Given the description of an element on the screen output the (x, y) to click on. 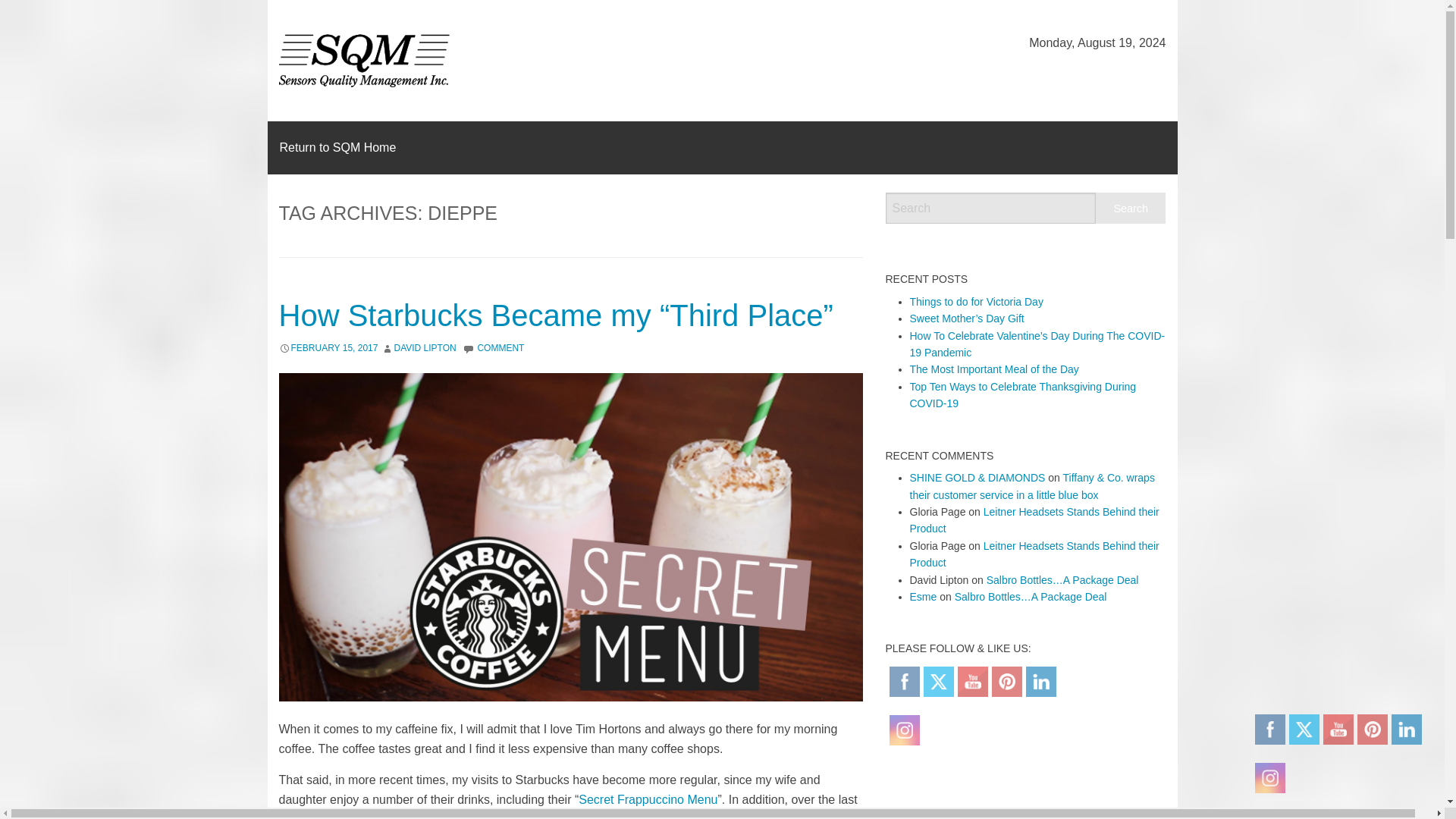
FEBRUARY 15, 2017 (334, 347)
COMMENT (500, 347)
Secret Frappuccino Menu (647, 799)
Twitter (938, 681)
Return to SQM Home (336, 147)
PINTEREST (1005, 681)
Facebook (904, 681)
LinkedIn (1040, 681)
Search (1131, 207)
DAVID LIPTON (424, 347)
